Given the description of an element on the screen output the (x, y) to click on. 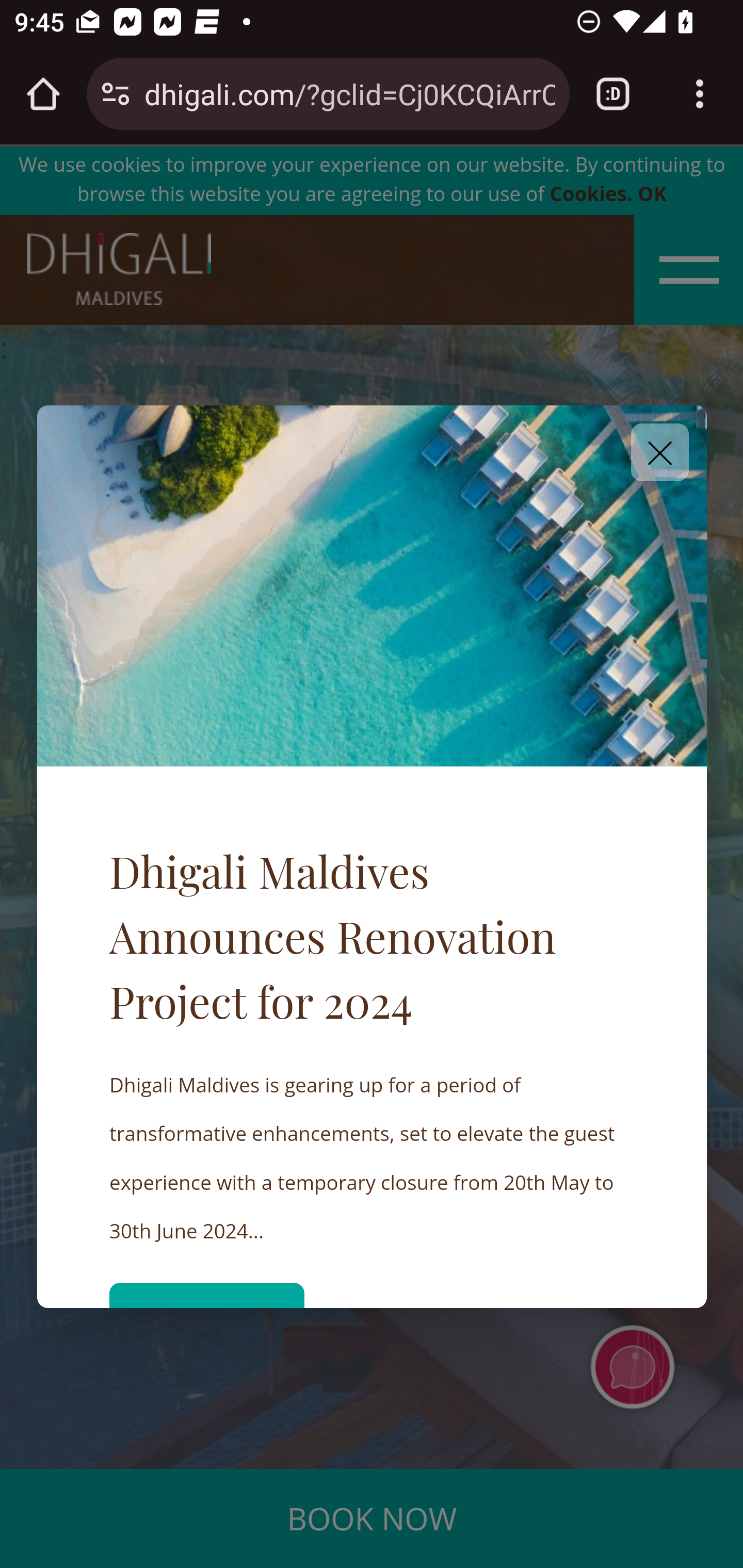
Open the home page (43, 93)
Connection is secure (115, 93)
Switch or close tabs (612, 93)
Customize and control Google Chrome (699, 93)
